Given the description of an element on the screen output the (x, y) to click on. 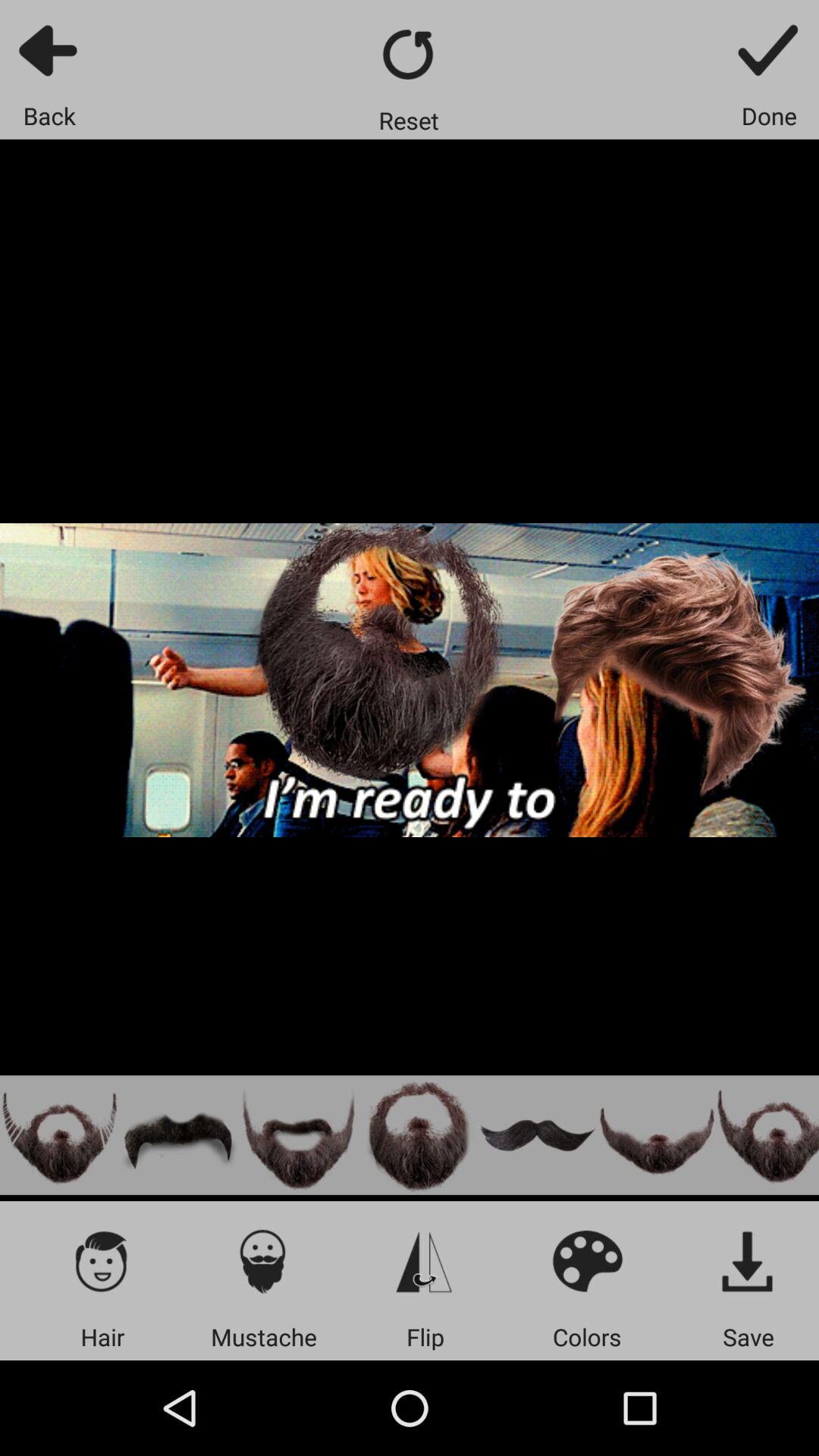
go back (408, 54)
